Given the description of an element on the screen output the (x, y) to click on. 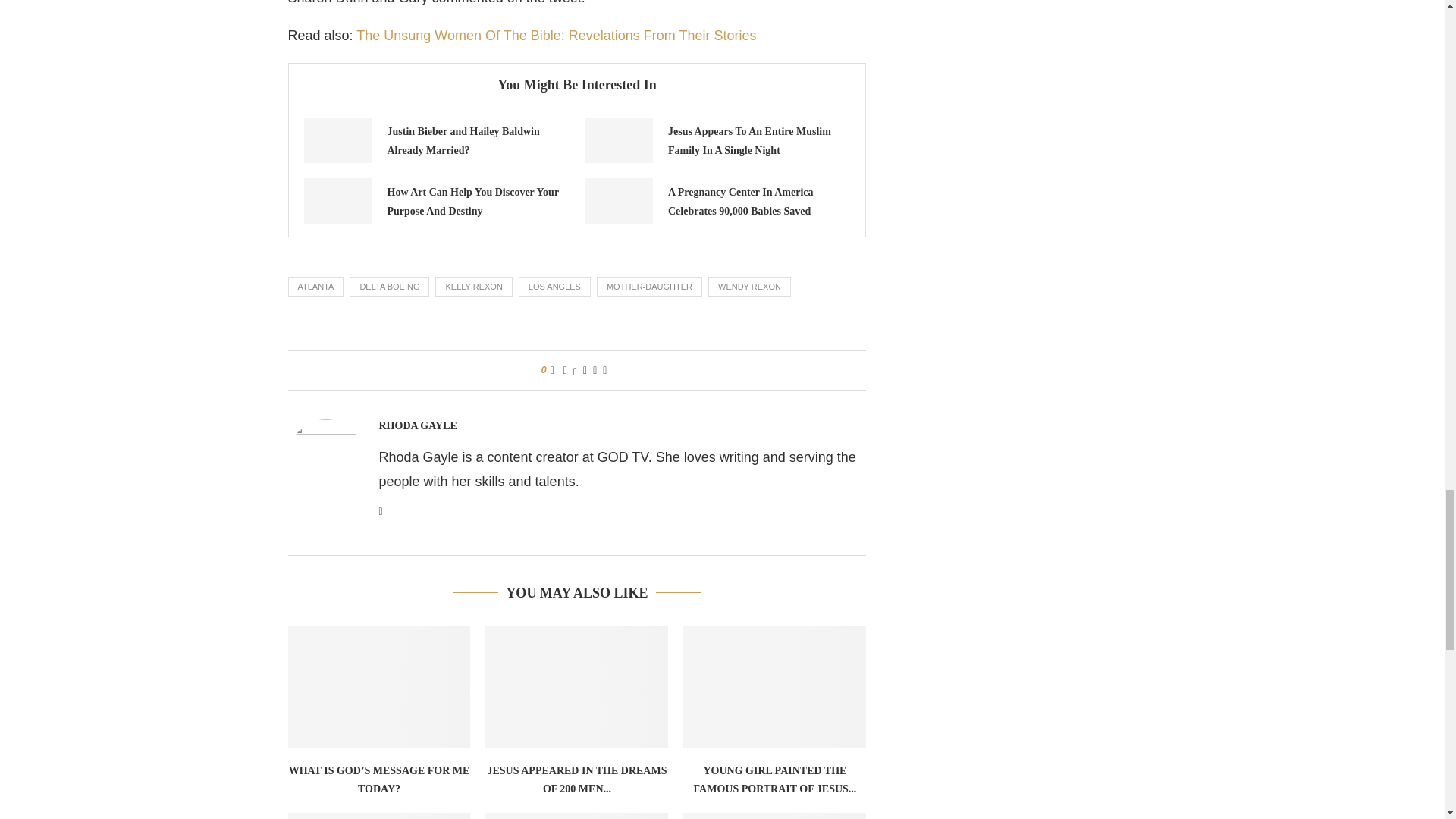
Jesus Appeared In The Dreams Of 200 Men In Gaza Amid War (576, 687)
Jesus Appears To An Entire Muslim Family In A Single Night (749, 140)
Jesus Appears To An Entire Muslim Family In A Single Night (618, 139)
Author Rhoda Gayle (417, 426)
A Pregnancy Center In America Celebrates 90,000 Babies Saved (740, 201)
How Art Can Help You Discover Your Purpose And Destiny (336, 200)
Father of Mandisa Reveals Truth Behind Her Death (576, 816)
ATLANTA (315, 286)
Justin Bieber and Hailey Baldwin Already Married? (336, 139)
How Art Can Help You Discover Your Purpose And Destiny (472, 201)
Taya Smith Resigns From Hillsong Church (774, 816)
Justin Bieber and Hailey Baldwin Already Married? (462, 140)
A Pregnancy Center In America Celebrates 90,000 Babies Saved (618, 200)
